Given the description of an element on the screen output the (x, y) to click on. 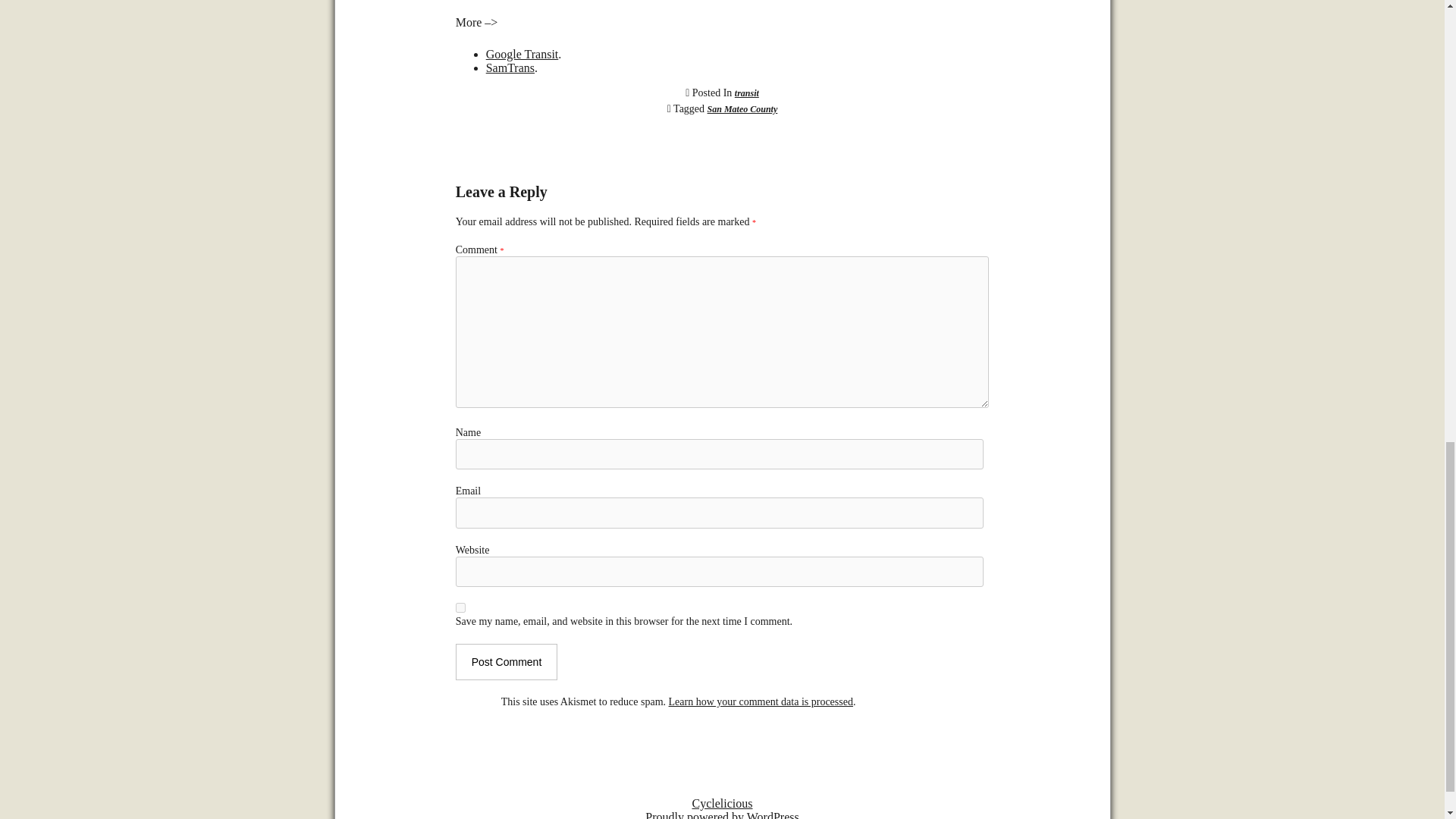
Cyclelicious (721, 802)
Post Comment (506, 661)
San Mateo County (742, 109)
SamTrans (510, 67)
Google Transit (522, 53)
Learn how your comment data is processed (760, 701)
transit (746, 92)
yes (460, 607)
Post Comment (506, 661)
